Given the description of an element on the screen output the (x, y) to click on. 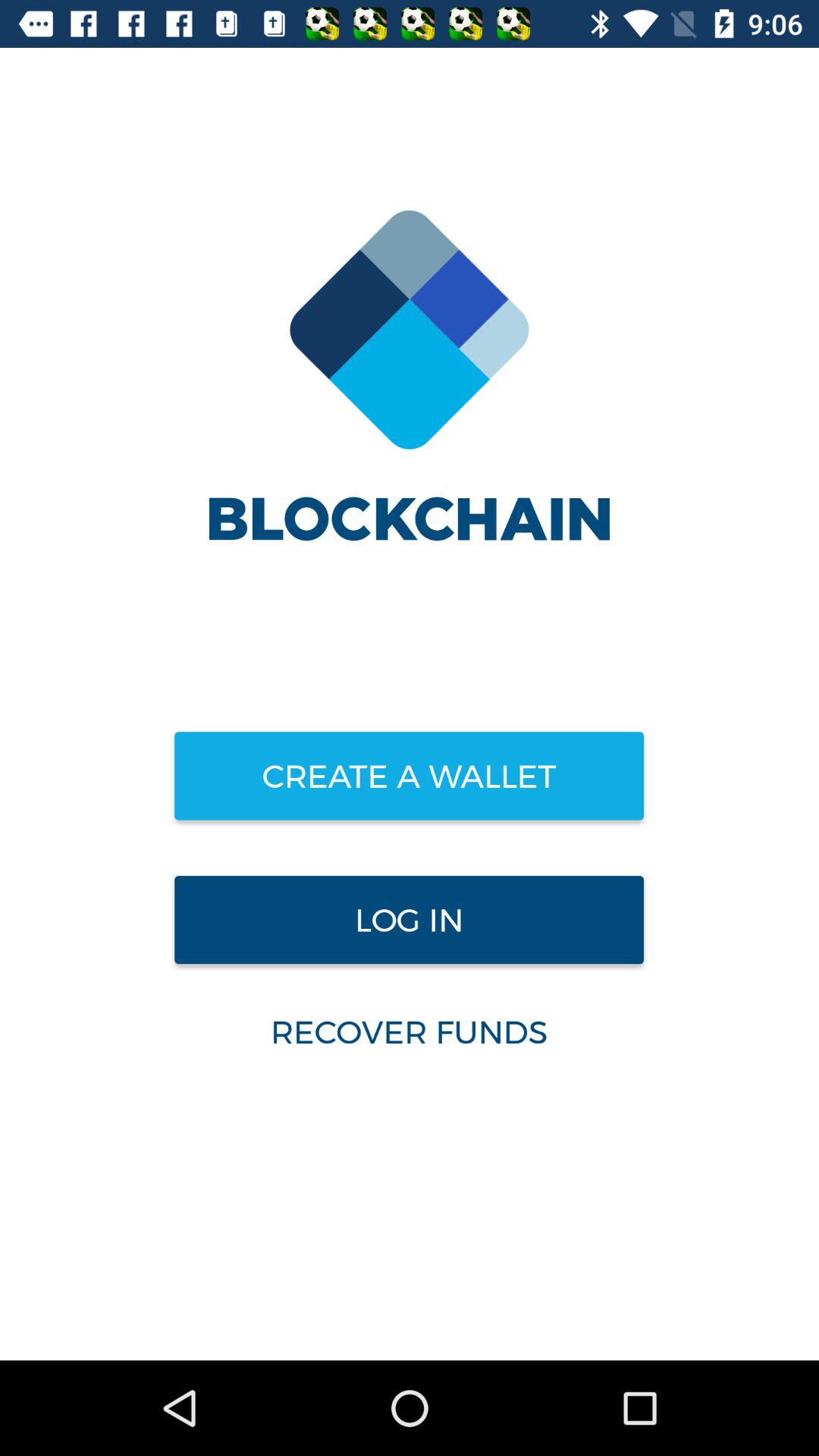
turn off item below log in (408, 1031)
